Given the description of an element on the screen output the (x, y) to click on. 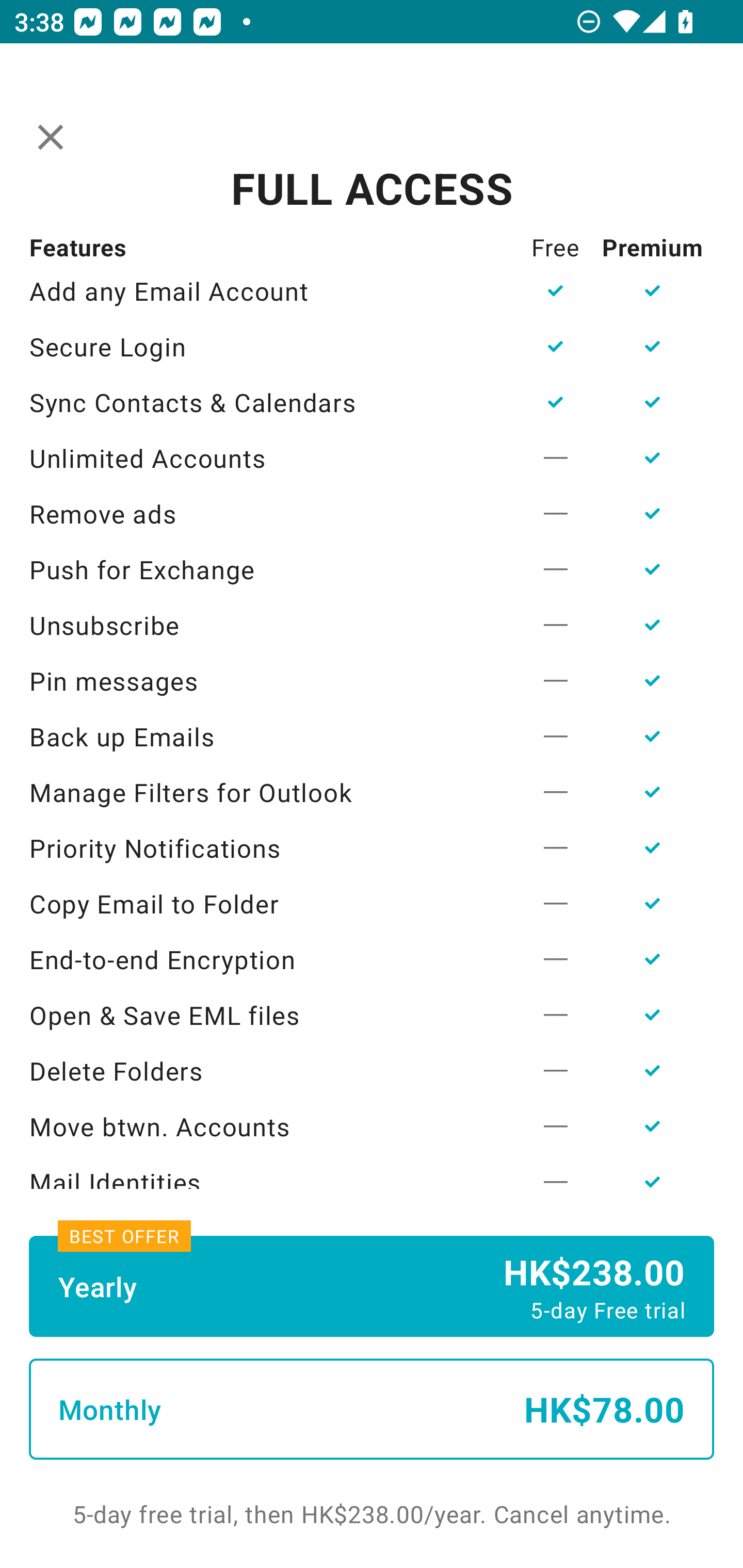
Yearly HK$238.00 5-day Free trial (371, 1286)
Monthly HK$78.00 (371, 1408)
